Given the description of an element on the screen output the (x, y) to click on. 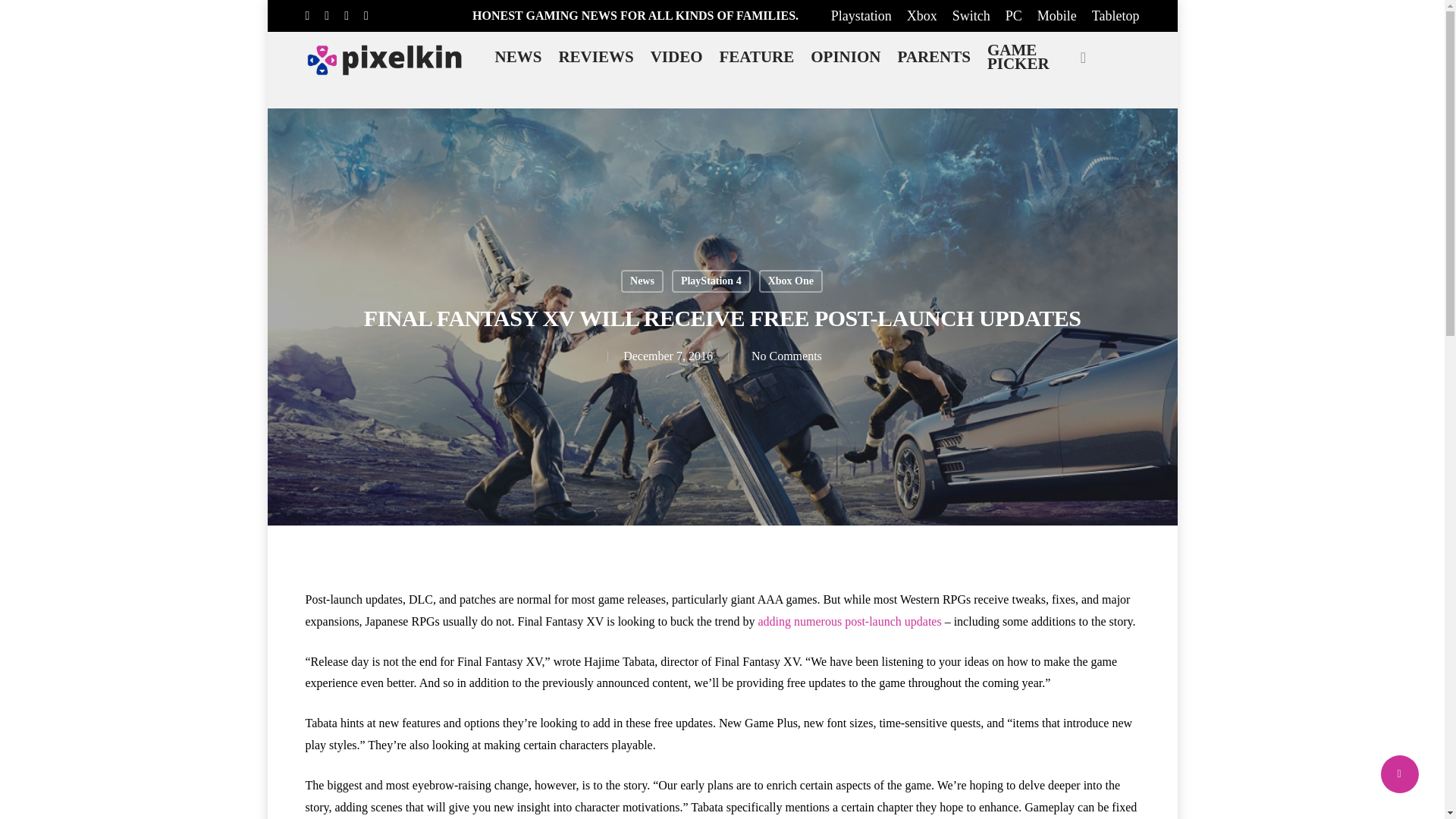
GAME PICKER (1018, 56)
PC (1014, 15)
Xbox One (790, 281)
Mobile (1056, 15)
NEWS (519, 56)
Tabletop (1116, 15)
No Comments (783, 355)
adding numerous post-launch updates (850, 621)
REVIEWS (595, 56)
OPINION (844, 56)
Switch (971, 15)
News (642, 281)
FEATURE (755, 56)
PARENTS (933, 56)
Playstation (861, 15)
